Given the description of an element on the screen output the (x, y) to click on. 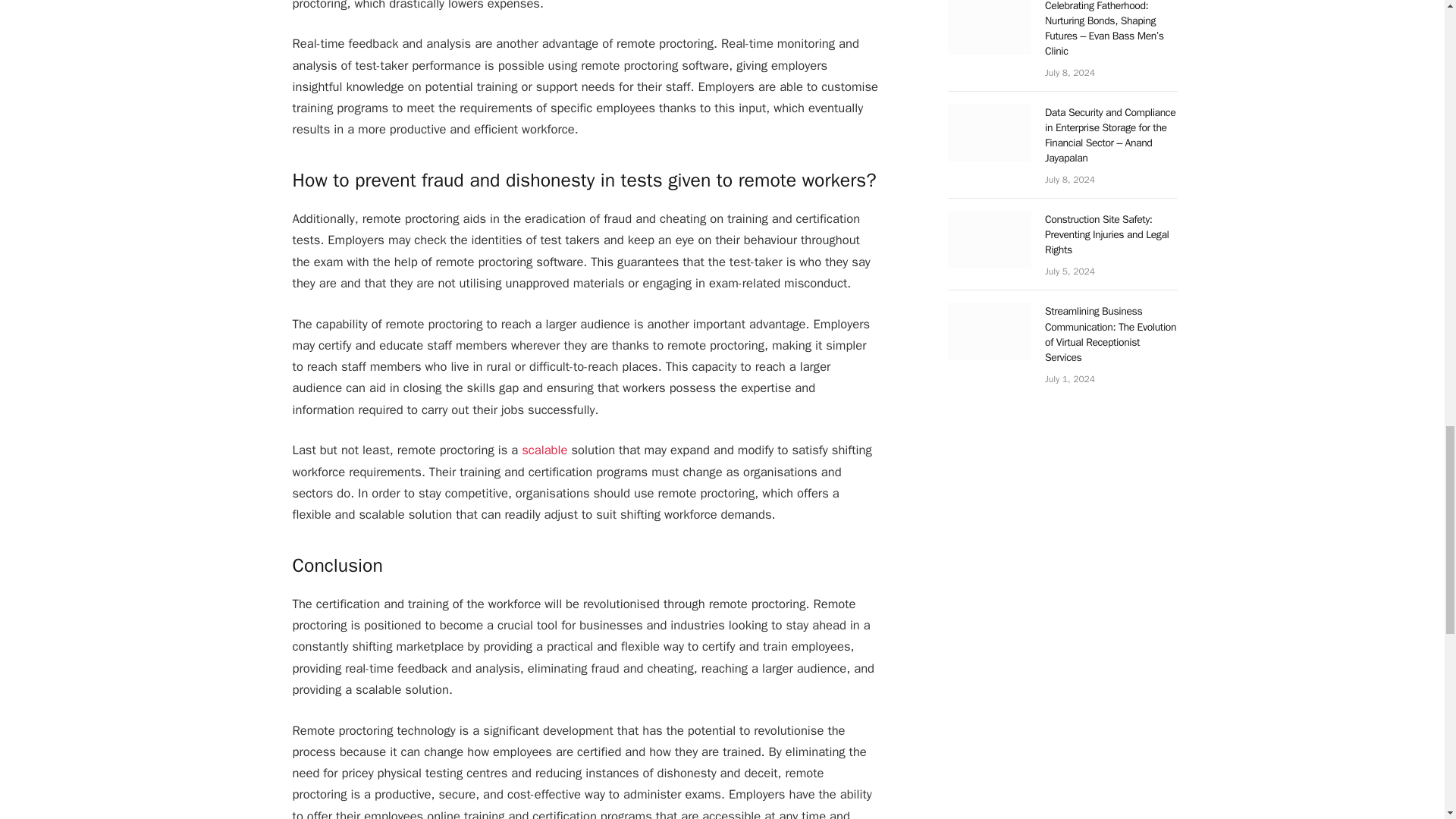
scalable (544, 449)
